Given the description of an element on the screen output the (x, y) to click on. 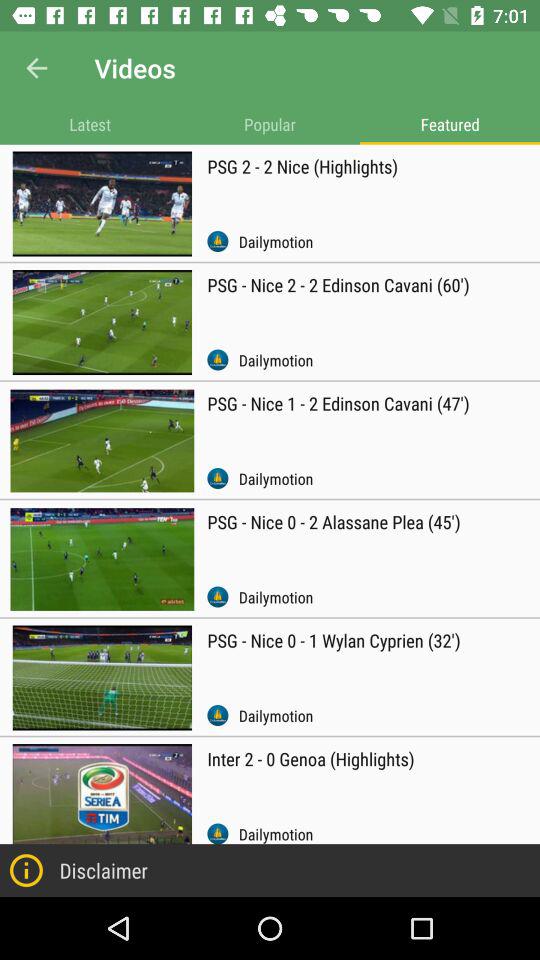
tap item above the psg 2 2 icon (450, 124)
